Given the description of an element on the screen output the (x, y) to click on. 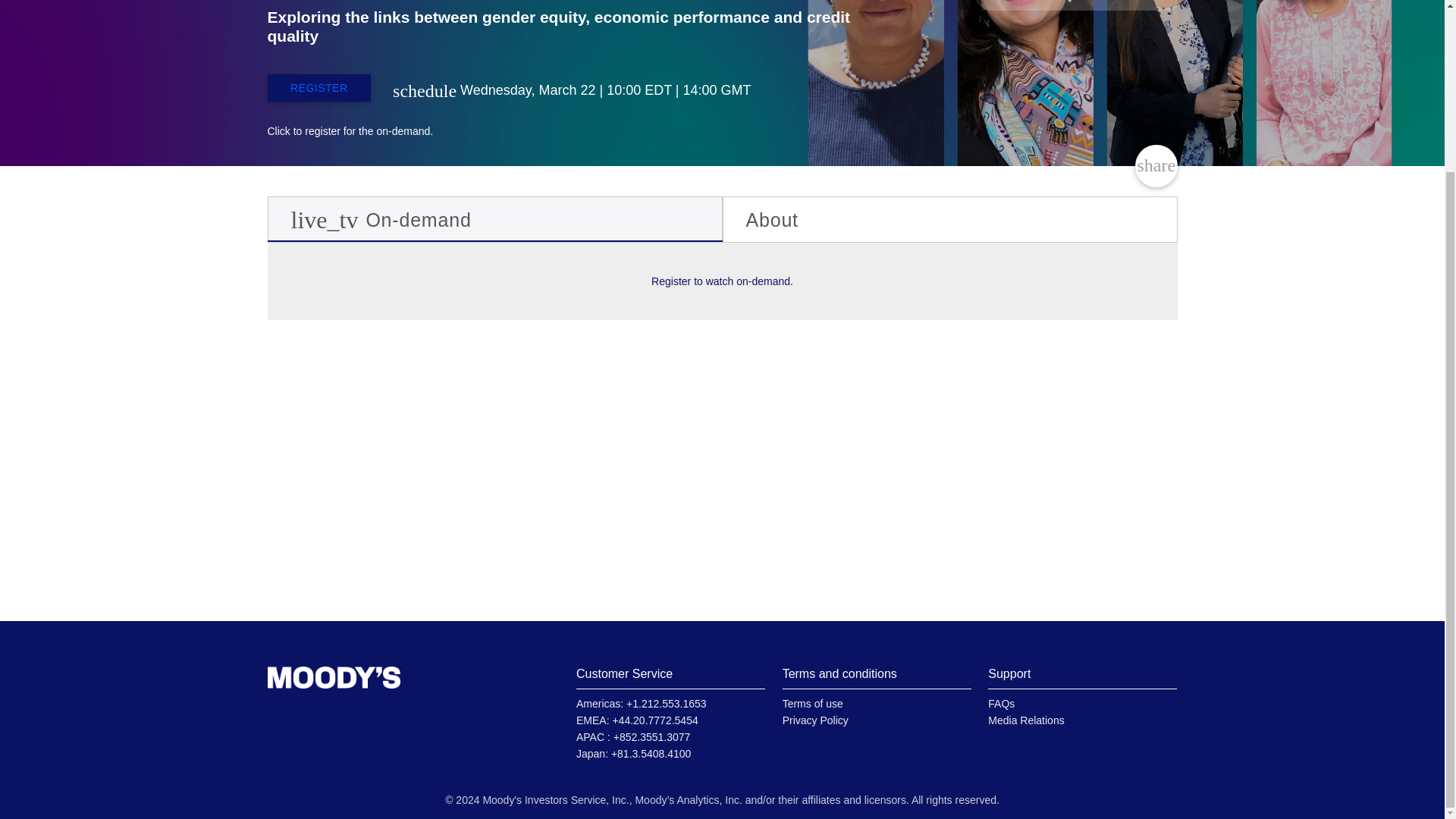
share (1156, 165)
Terms of use (813, 703)
Register to watch on-demand. (721, 281)
FAQs (1001, 703)
REGISTER (317, 87)
Privacy Policy (815, 720)
Media Relations (1026, 720)
About (949, 219)
